Given the description of an element on the screen output the (x, y) to click on. 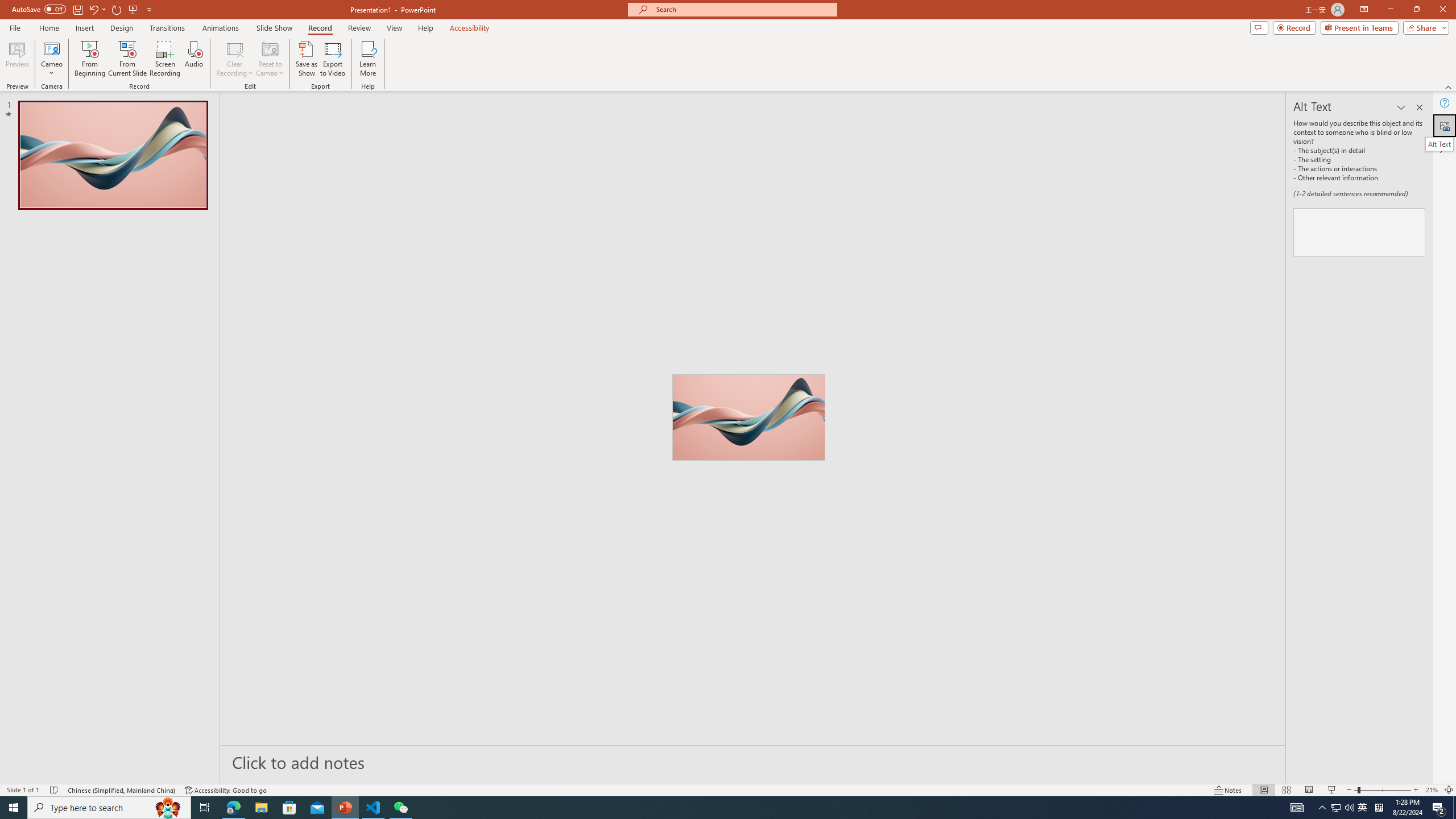
Zoom 21% (1431, 790)
Description (1358, 231)
